Given the description of an element on the screen output the (x, y) to click on. 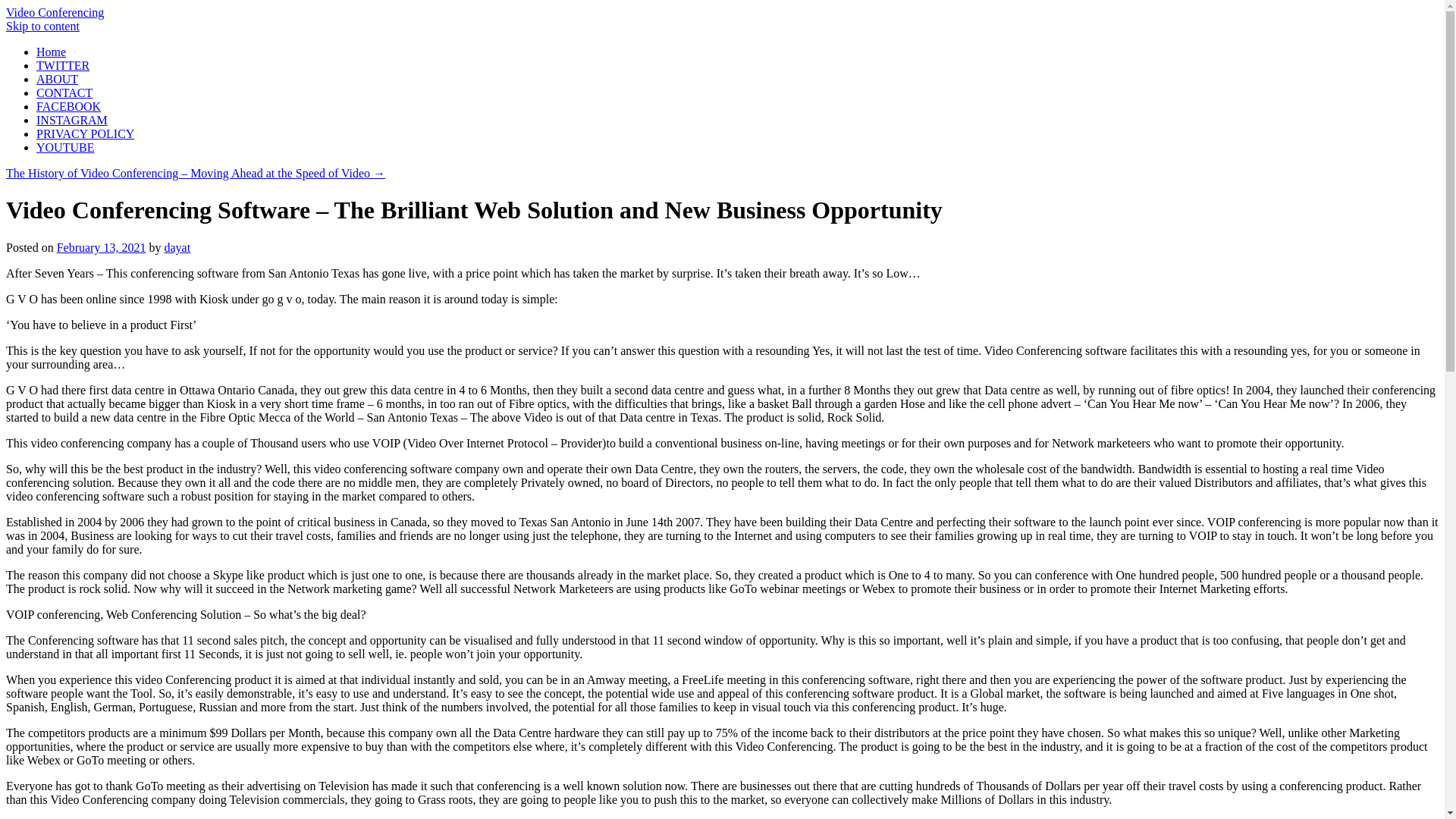
PRIVACY POLICY (84, 133)
YOUTUBE (65, 146)
FACEBOOK (68, 106)
View all posts by dayat (176, 246)
dayat (176, 246)
Video Conferencing (54, 11)
TWITTER (62, 65)
Home (50, 51)
February 13, 2021 (101, 246)
Video Conferencing (54, 11)
INSTAGRAM (71, 119)
CONTACT (64, 92)
CONTACT (64, 92)
Home (50, 51)
Skip to content (42, 25)
